Given the description of an element on the screen output the (x, y) to click on. 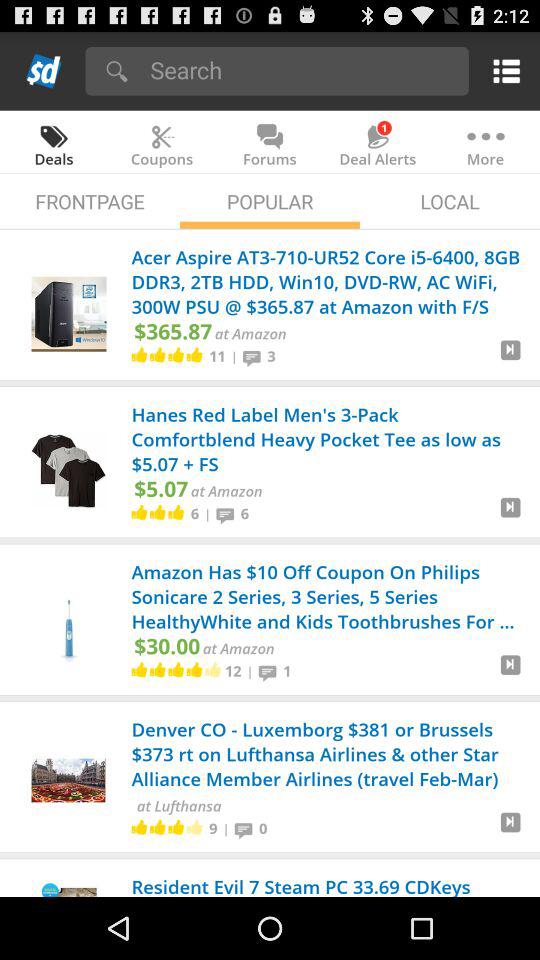
launch icon to the left of the 3 item (254, 355)
